Given the description of an element on the screen output the (x, y) to click on. 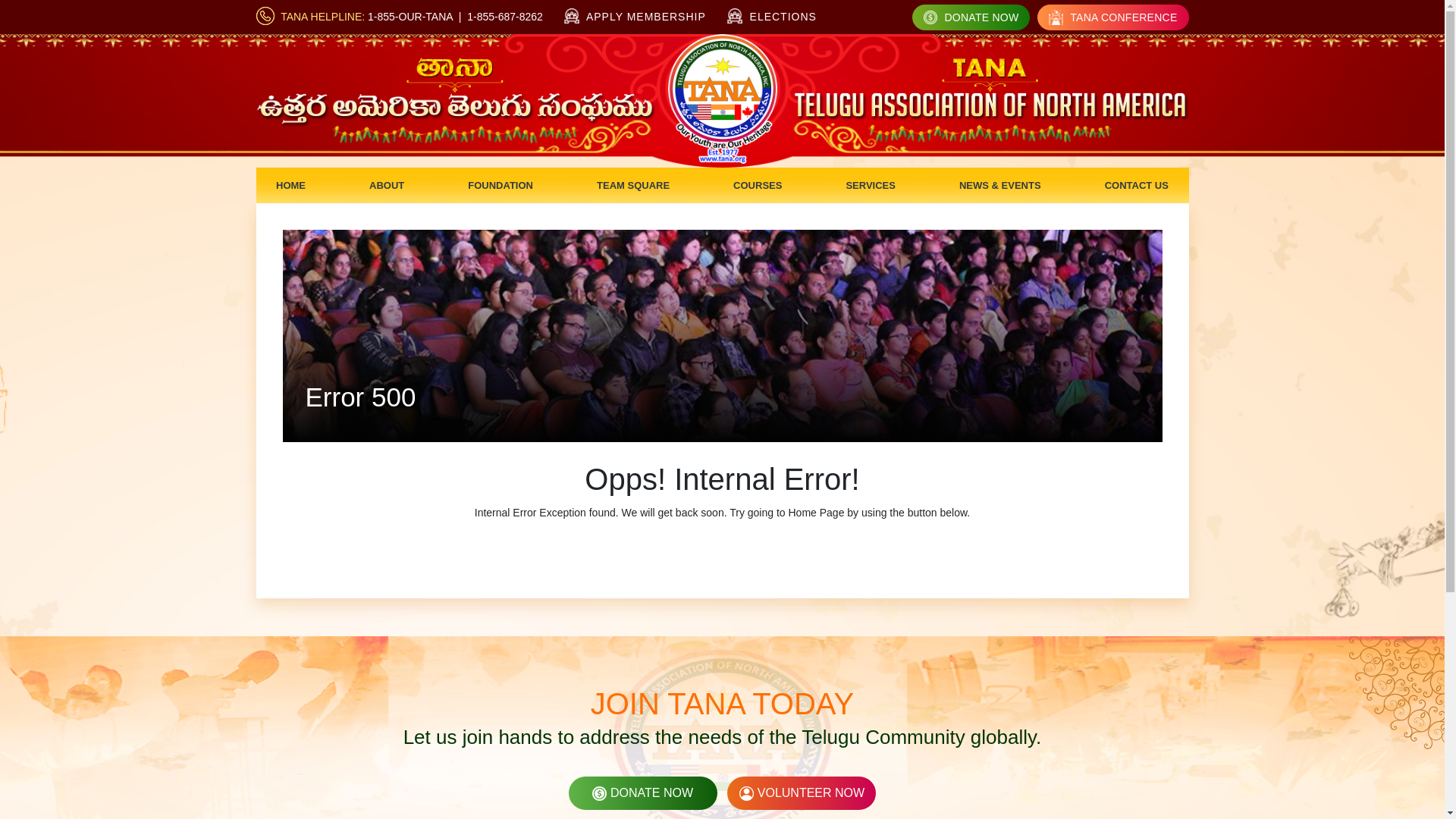
TANA CONFERENCE (1112, 17)
FOUNDATION (500, 184)
DONATE NOW (970, 17)
HOME (291, 184)
APPLY MEMBERSHIP (635, 16)
1-855-OUR-TANA (410, 16)
ABOUT (387, 184)
ELECTIONS (771, 16)
1-855-687-8262 (505, 16)
